Given the description of an element on the screen output the (x, y) to click on. 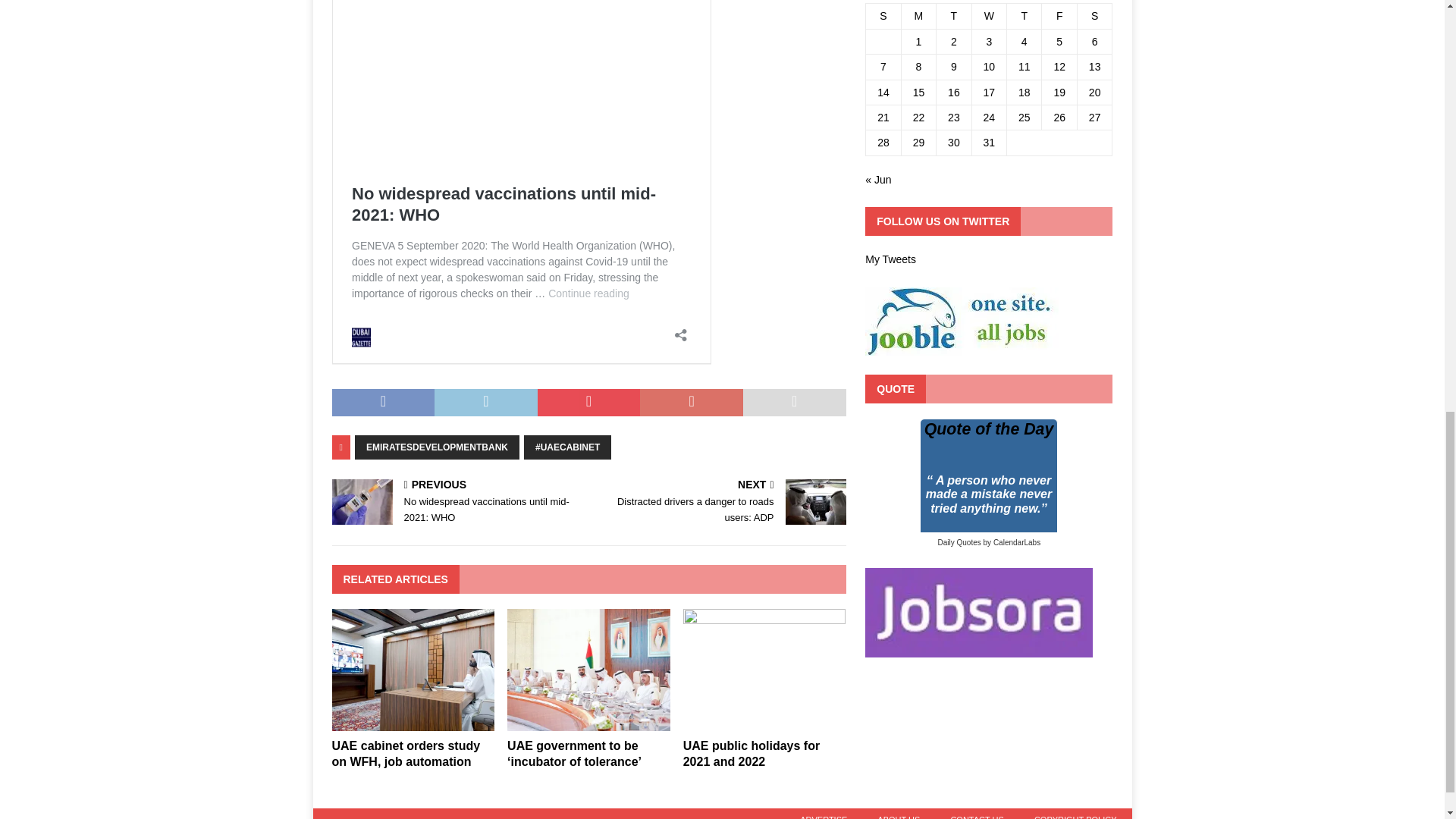
UAE public holidays for 2021 and 2022 (763, 722)
UAE cabinet orders study on WFH,  job automation (405, 753)
UAE cabinet orders study on WFH,  job automation (413, 722)
